Given the description of an element on the screen output the (x, y) to click on. 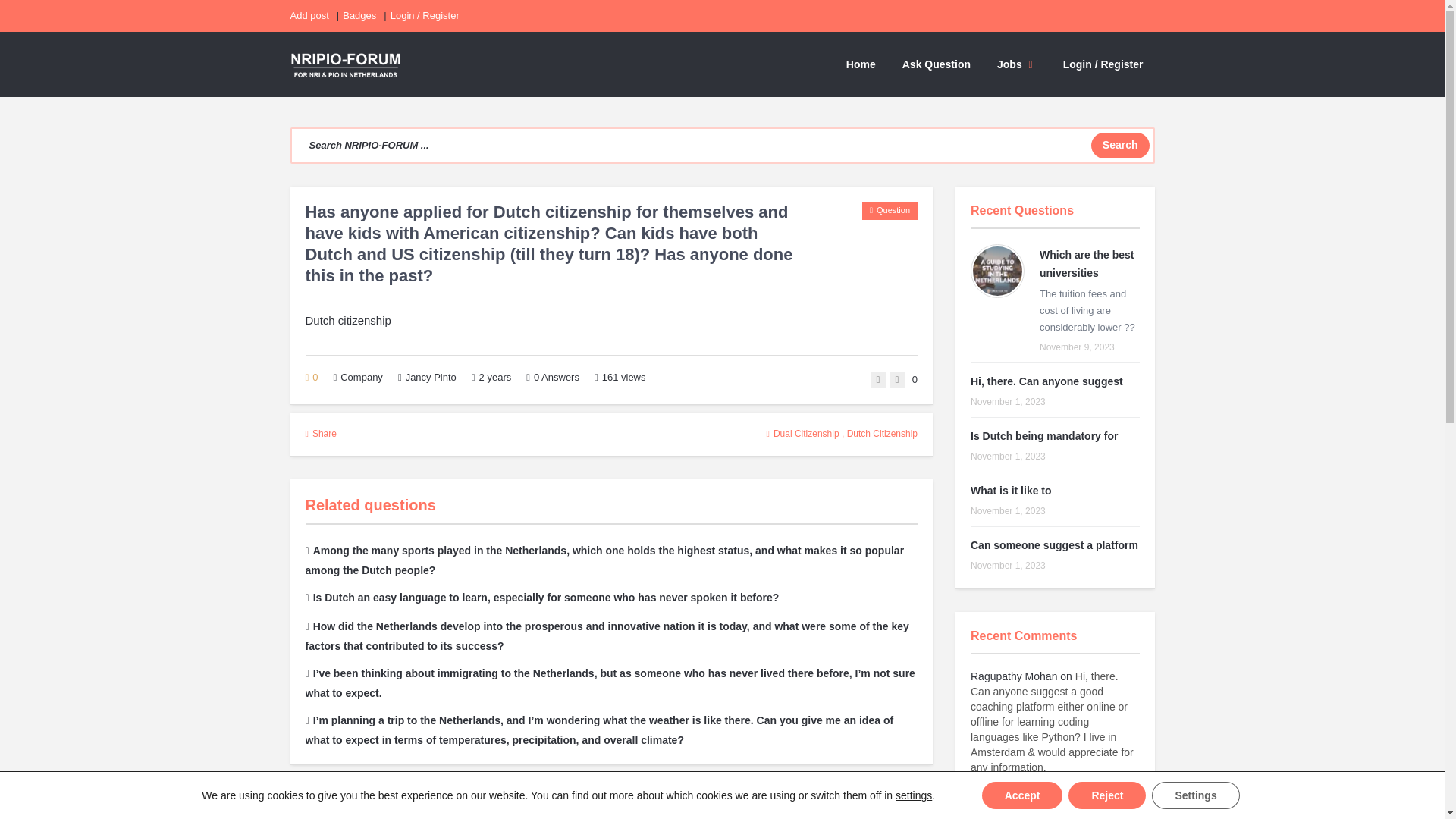
NRIPIO-FORUM (344, 64)
Is Dutch being mandatory for getting a job in Netherlands? (1044, 435)
Search NRIPIO-FORUM ... (721, 145)
What is it like to be an expat in the Netherlands? (1011, 490)
Dislike (896, 379)
2 years (495, 377)
Like (877, 379)
